Given the description of an element on the screen output the (x, y) to click on. 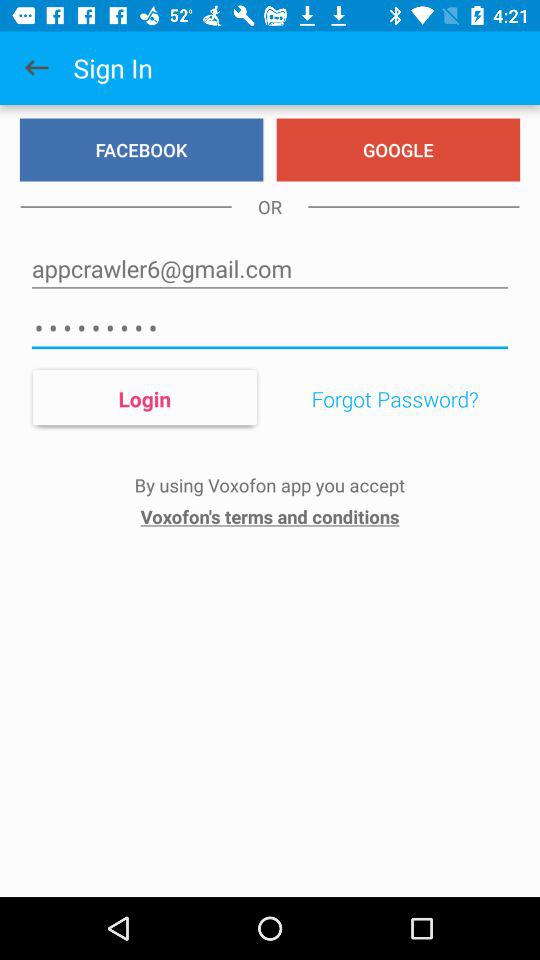
select item below by using voxofon icon (269, 516)
